Given the description of an element on the screen output the (x, y) to click on. 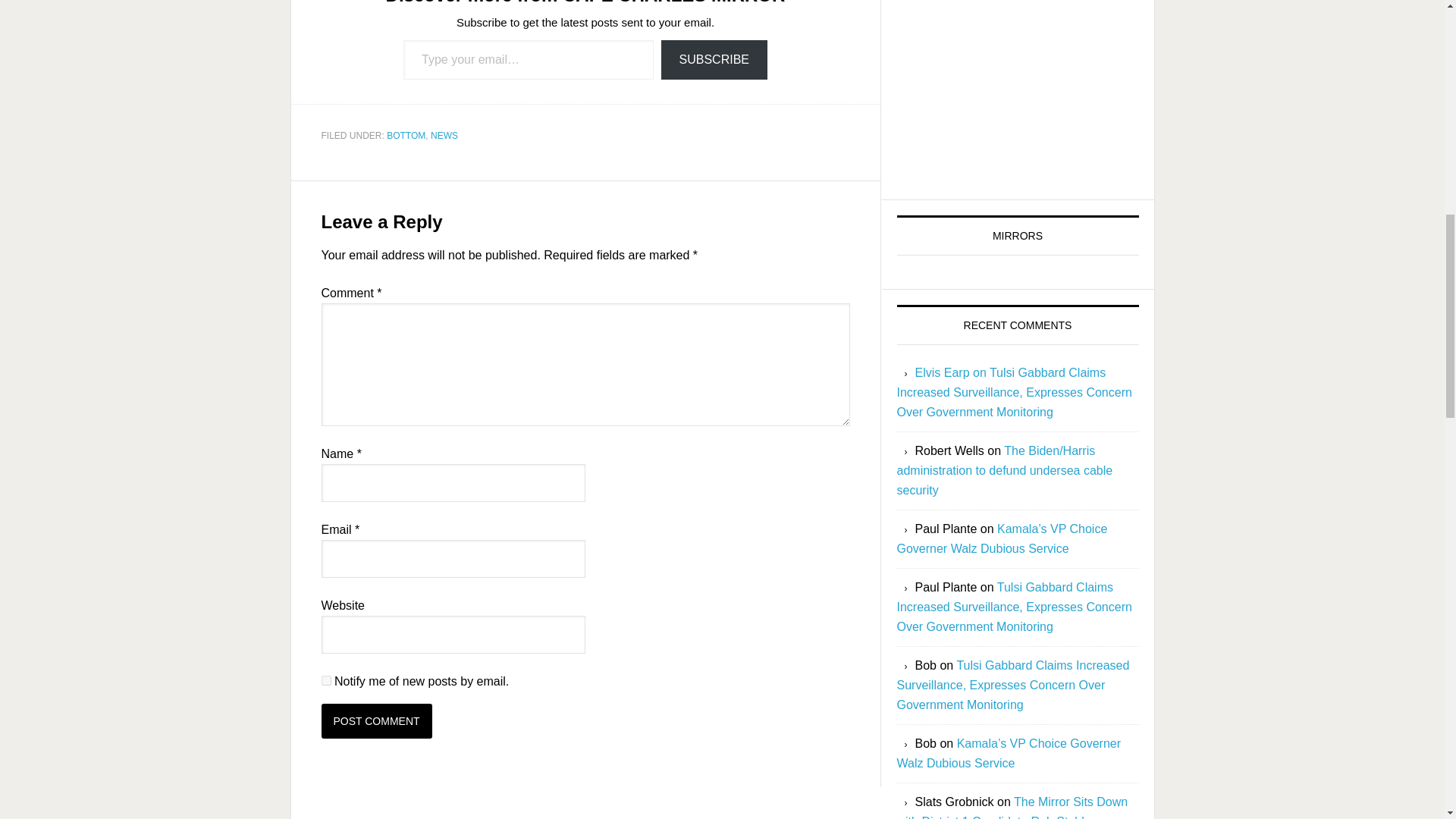
MIRRORS (1016, 144)
subscribe (326, 680)
NEWS (444, 135)
BOTTOM (406, 135)
RECENT COMMENTS (1017, 324)
Post Comment (376, 720)
Please fill in this field. (528, 60)
Post Comment (376, 720)
